Given the description of an element on the screen output the (x, y) to click on. 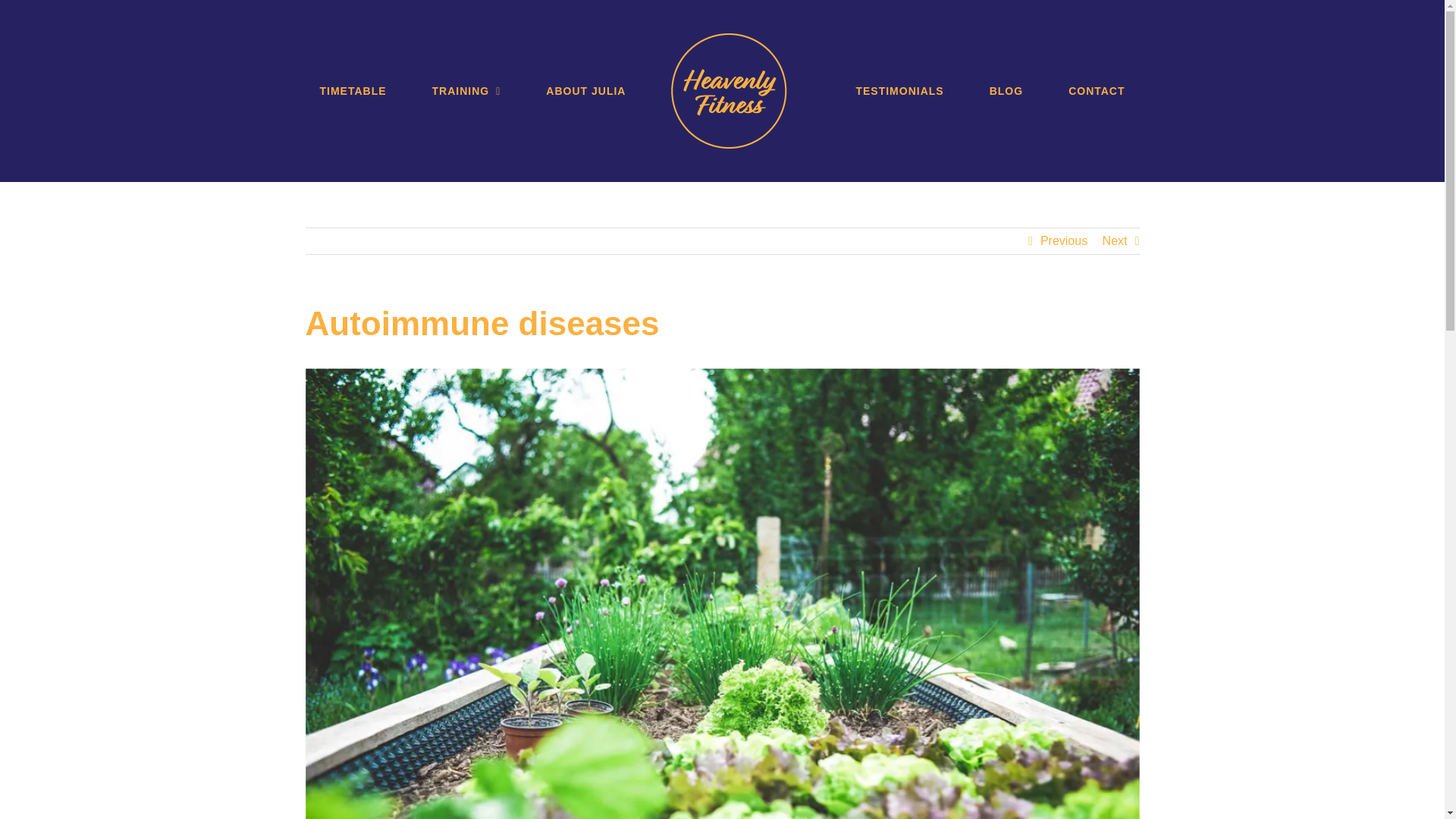
Previous (1064, 240)
Next (1114, 240)
